Given the description of an element on the screen output the (x, y) to click on. 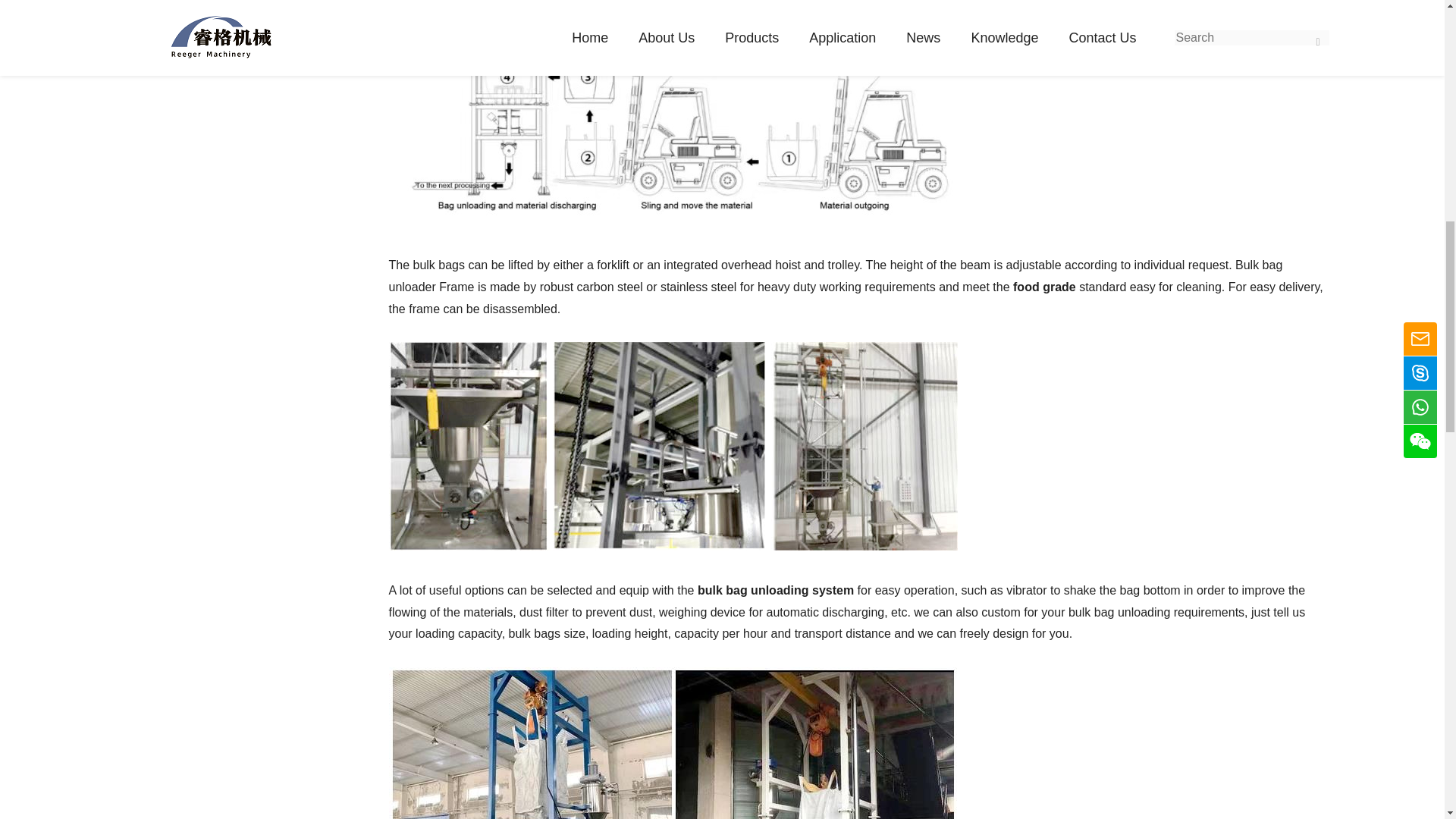
Heavy Duty Bulk Bag Unloader for feeding (672, 743)
Heavy Duty Bulk Bag Unloader (672, 220)
Bulk Bag Unloader features (672, 446)
Heavy Duty Bulk Bag Unloader (672, 112)
Heavy Duty Bulk Bag Unloader (672, 545)
